Given the description of an element on the screen output the (x, y) to click on. 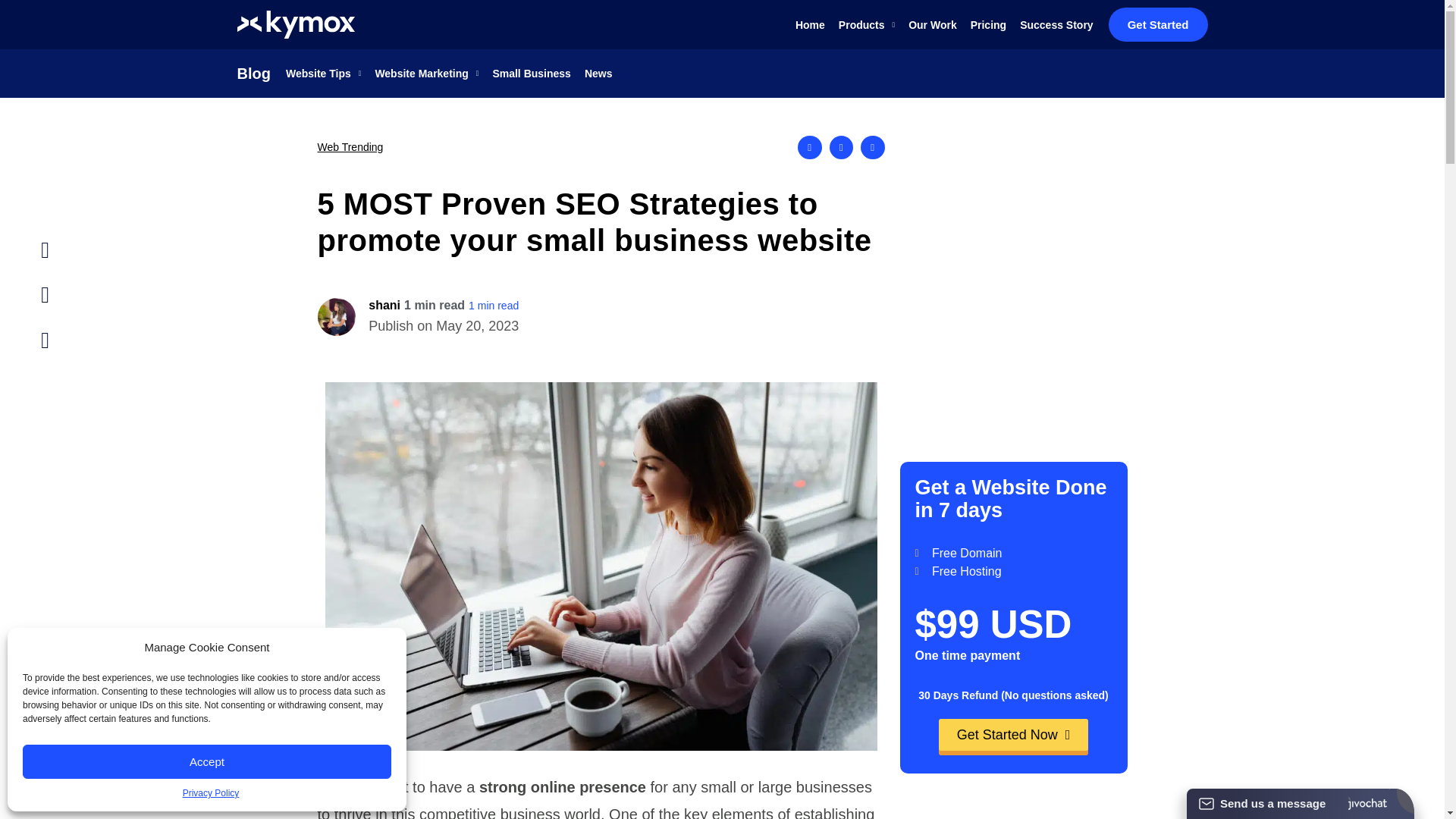
Get Started (1158, 24)
Small Business (531, 73)
Products (866, 24)
Success Story (1056, 24)
News (598, 73)
Home (809, 24)
Website Marketing (426, 73)
Our Work (932, 24)
Privacy Policy (211, 793)
Pricing (988, 24)
Blog (252, 73)
Website Tips (323, 73)
Accept (207, 761)
